Given the description of an element on the screen output the (x, y) to click on. 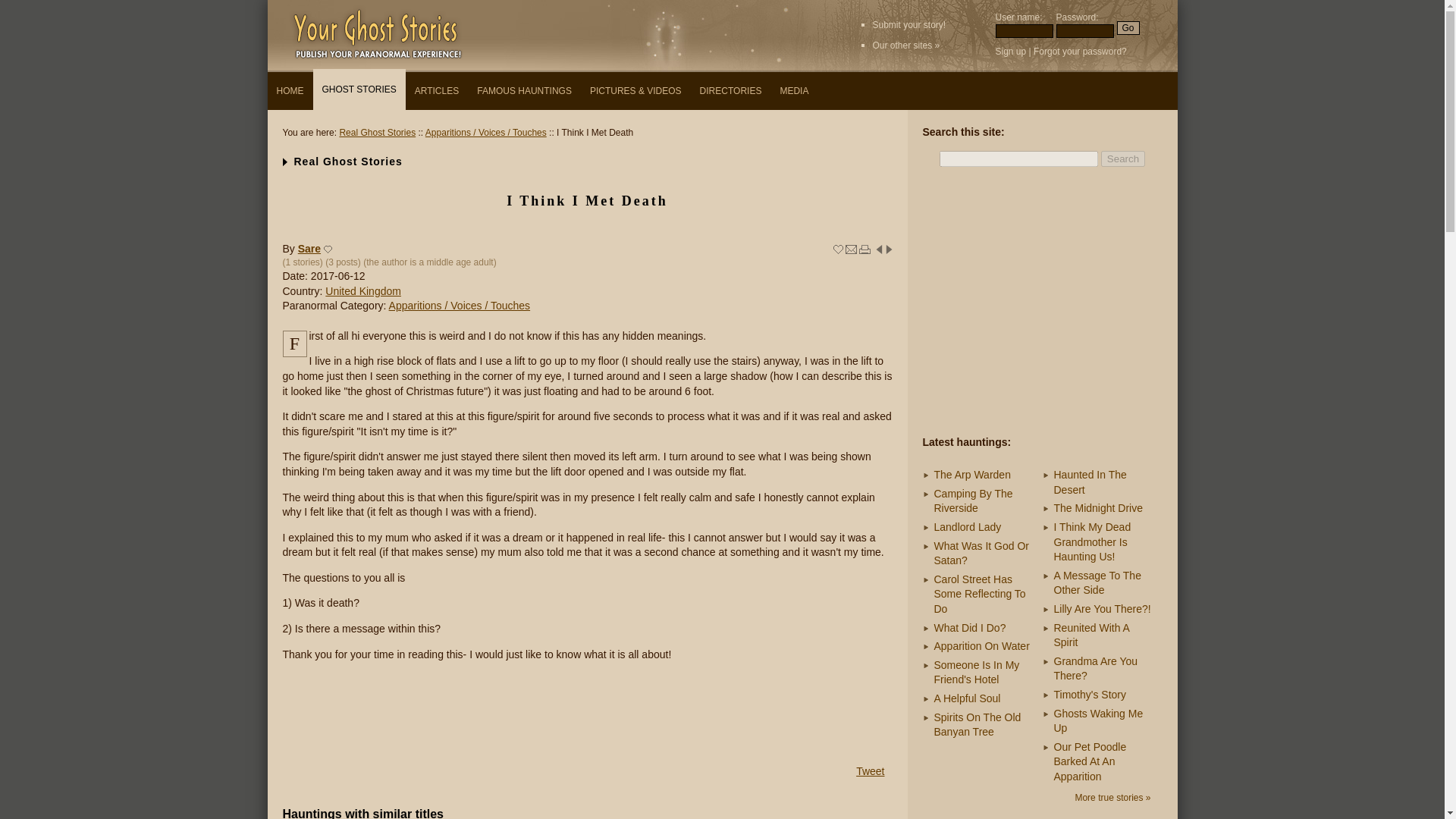
Sign up (1010, 50)
Submit your story! (908, 24)
Add to your favorite stories (837, 248)
Forgot your password (1077, 50)
MEDIA (793, 90)
Advertisement (587, 711)
GHOST STORIES (358, 88)
Add Sare to your favorite people (328, 248)
Send this story to a friend (851, 248)
ARTICLES (436, 90)
Go (1127, 28)
Real Ghost Stories (376, 132)
Tweet (869, 770)
Add to your favorite stories (837, 248)
Sare (309, 248)
